Given the description of an element on the screen output the (x, y) to click on. 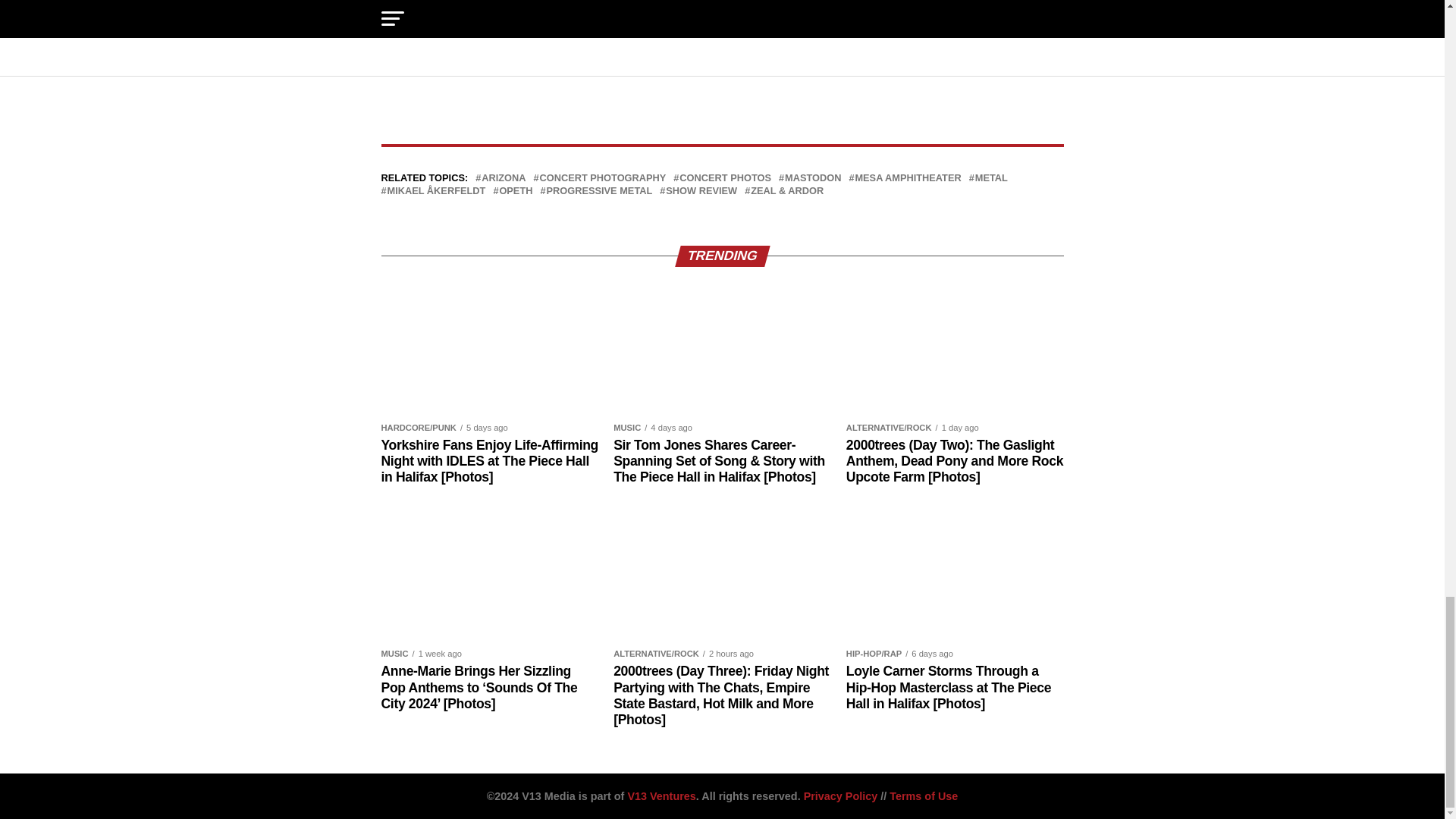
OPETH (515, 191)
Terms of Use (923, 796)
CONCERT PHOTOGRAPHY (603, 178)
SHOW REVIEW (700, 191)
ARIZONA (503, 178)
MASTODON (812, 178)
CONCERT PHOTOS (725, 178)
Privacy Policy (840, 796)
MESA AMPHITHEATER (907, 178)
PROGRESSIVE METAL (599, 191)
V13 Ventures (661, 796)
METAL (991, 178)
